Given the description of an element on the screen output the (x, y) to click on. 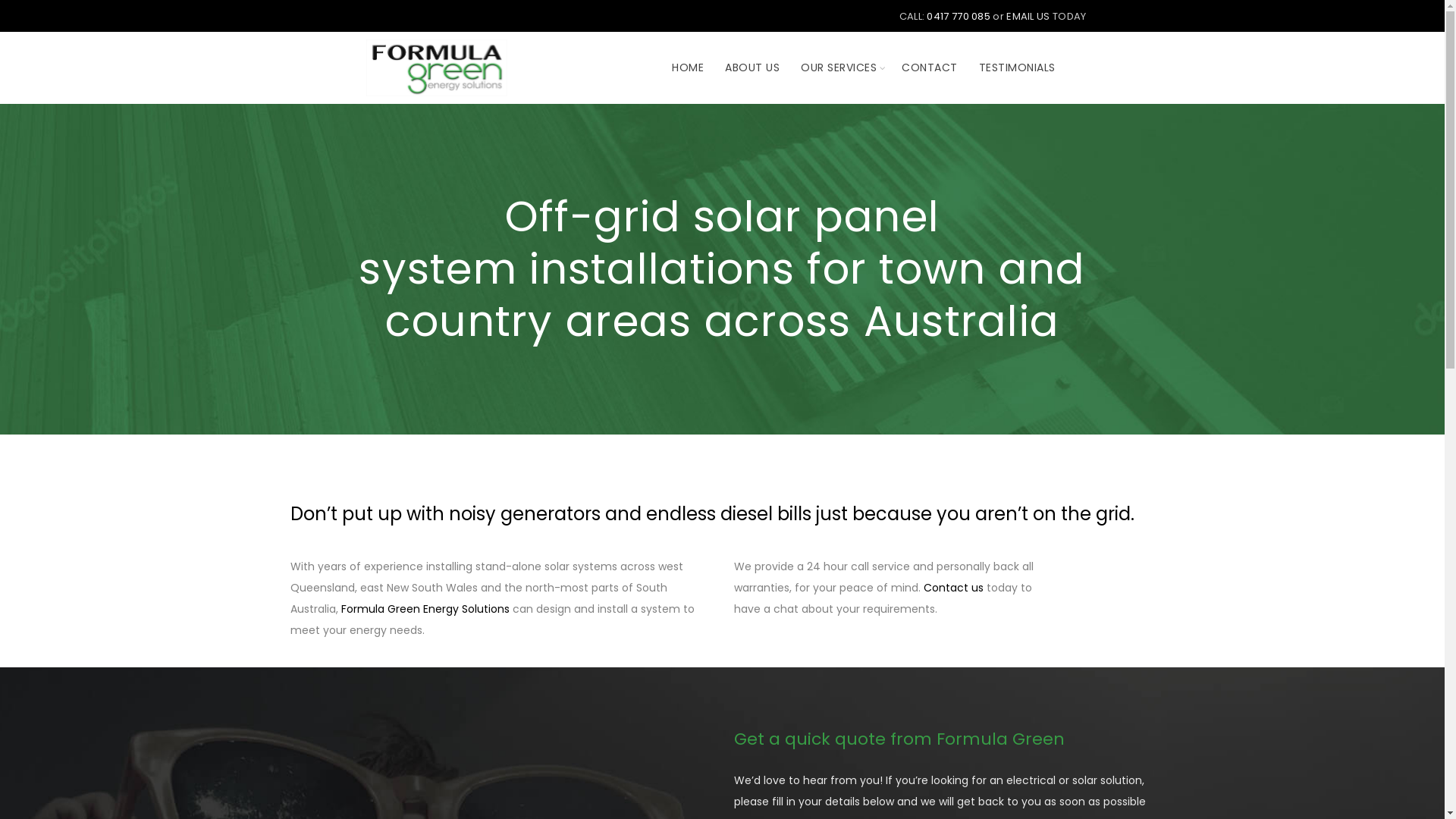
ABOUT US Element type: text (752, 67)
TESTIMONIALS Element type: text (1017, 67)
HOME Element type: text (687, 67)
EMAIL US Element type: text (1027, 16)
Formula Green Energy Solutions Element type: text (425, 608)
Contact us Element type: text (953, 587)
0417 770 085 Element type: text (958, 16)
CONTACT Element type: text (929, 67)
OUR SERVICES Element type: text (838, 67)
